Given the description of an element on the screen output the (x, y) to click on. 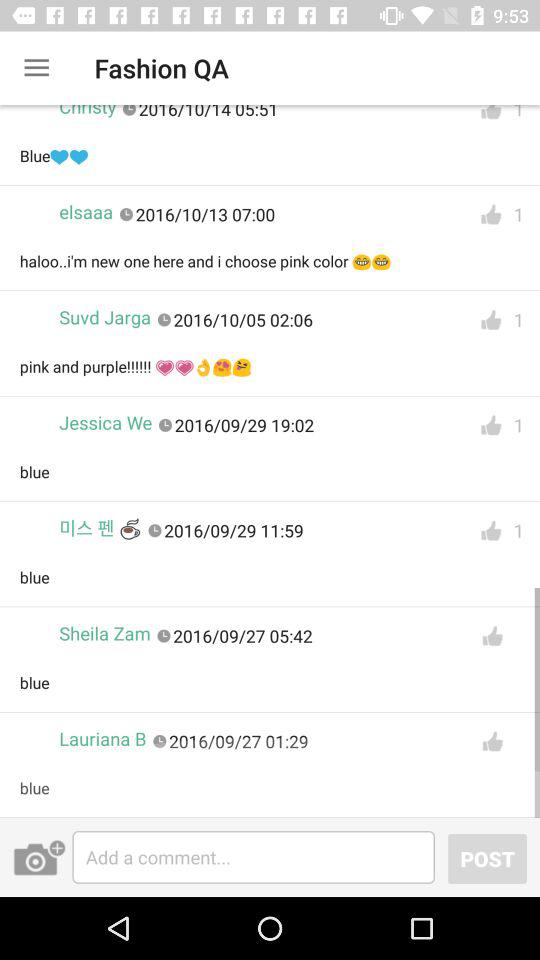
choose item below the haloo i m (105, 317)
